Given the description of an element on the screen output the (x, y) to click on. 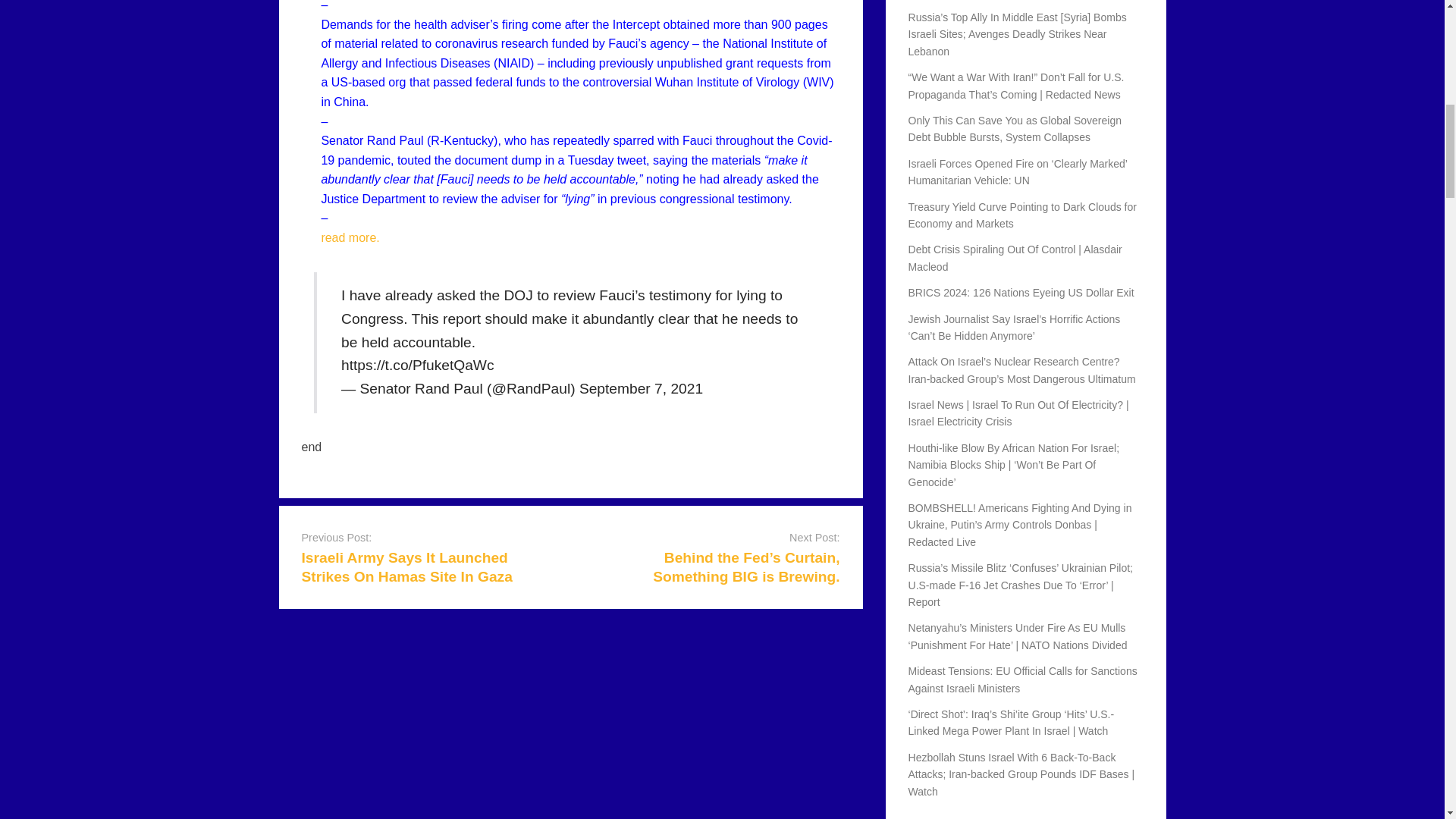
obtained (686, 24)
September 7, 2021 (641, 388)
read more. (349, 237)
BRICS 2024: 126 Nations Eyeing US Dollar Exit (1021, 292)
Israeli Army Says It Launched Strikes On Hamas Site In Gaza (406, 566)
